Given the description of an element on the screen output the (x, y) to click on. 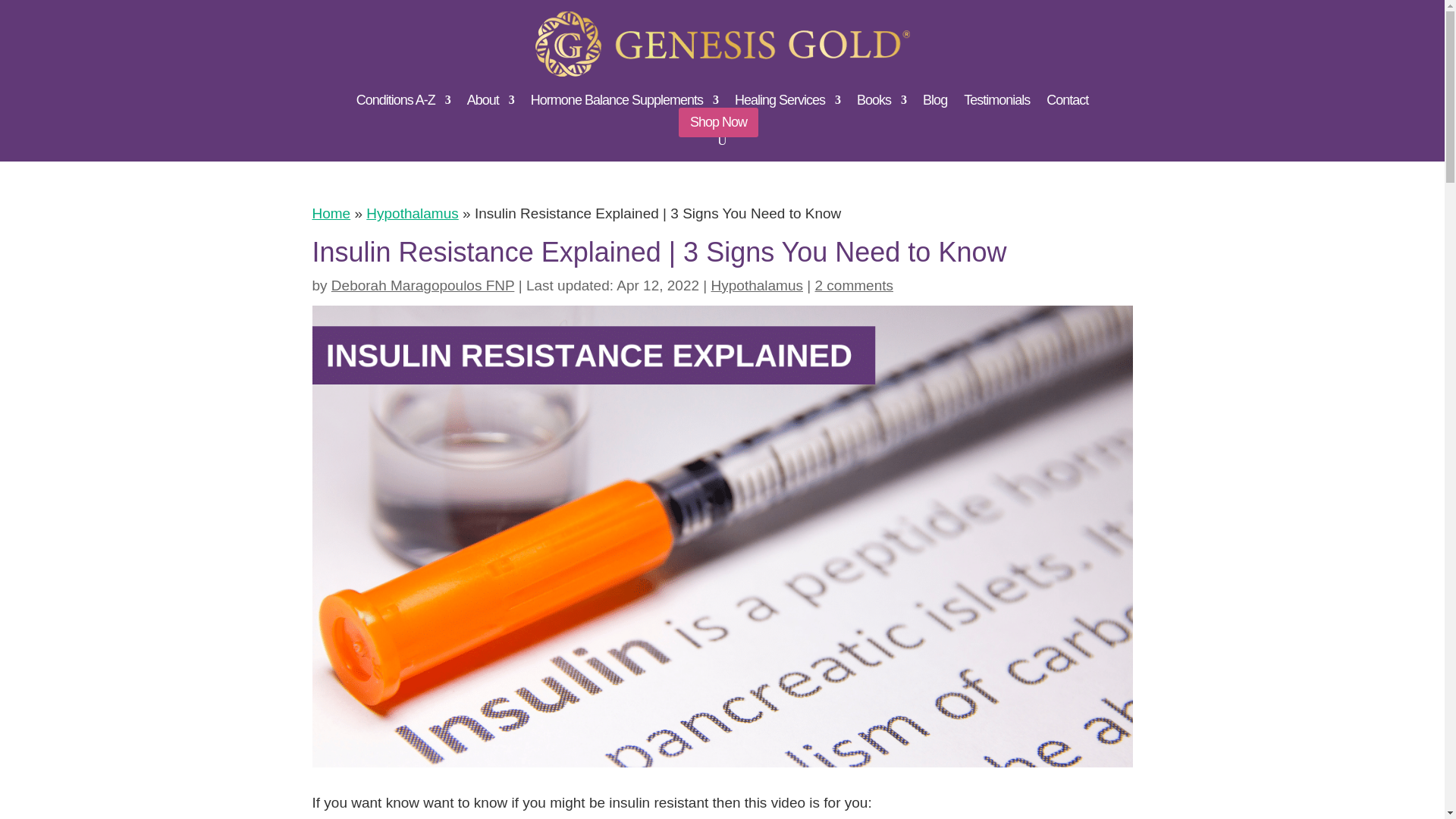
Healing Services (787, 103)
Books (881, 103)
Shop Now (718, 122)
Conditions A-Z (402, 103)
Blog (935, 103)
Contact (1066, 103)
Hormone Balance Supplements (624, 103)
Genesis Gold logo (722, 43)
Testimonials (996, 103)
Posts by Deborah Maragopoulos FNP (423, 285)
About (490, 103)
